Given the description of an element on the screen output the (x, y) to click on. 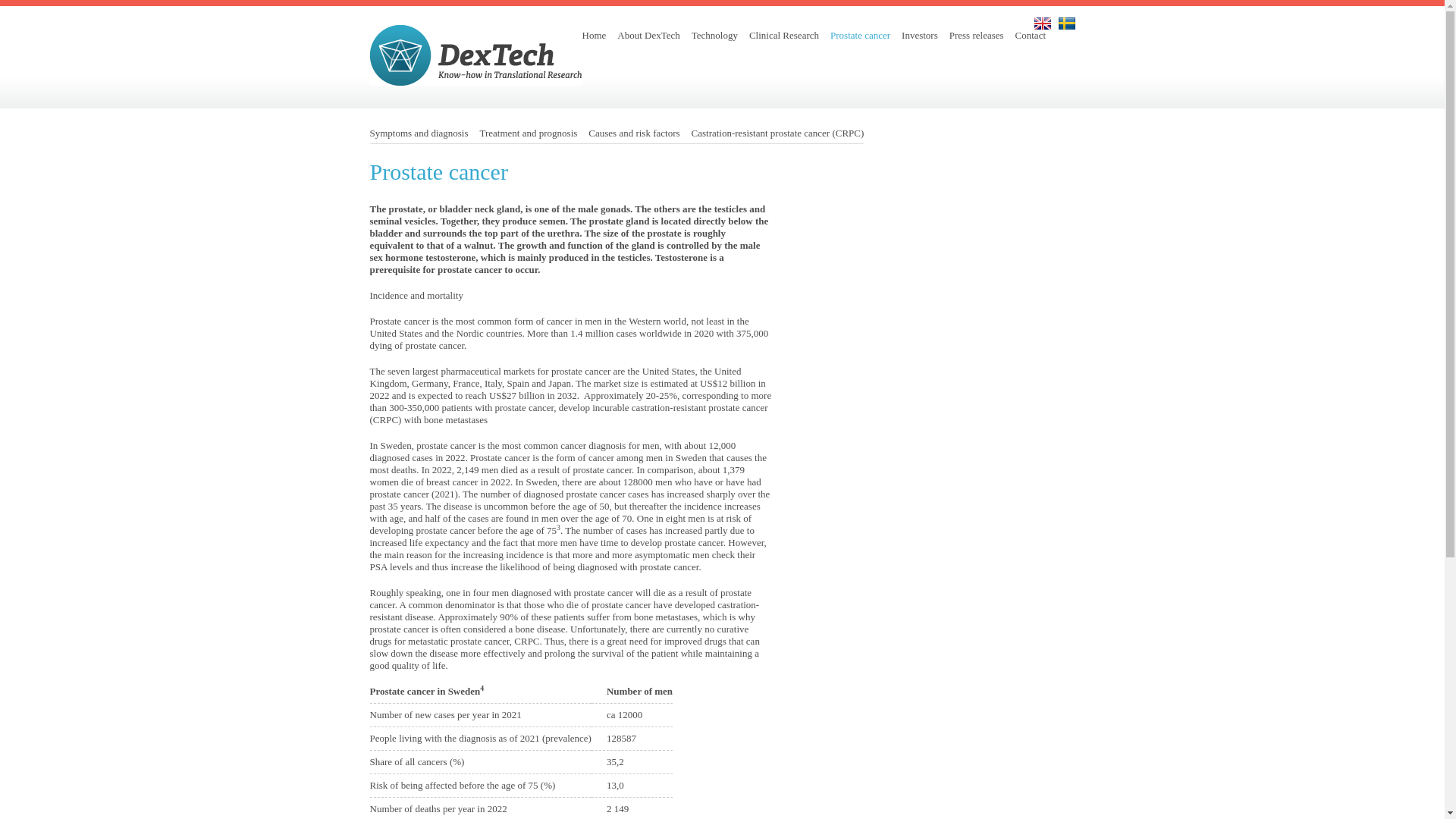
About DexTech (648, 34)
Prostate cancer (859, 34)
Press releases (976, 34)
Investors (919, 34)
Symptoms and diagnosis (418, 132)
Clinical Research (783, 34)
Causes and risk factors (633, 132)
Technology (714, 34)
Home (594, 34)
Treatment and prognosis (529, 132)
Contact (1029, 34)
